Given the description of an element on the screen output the (x, y) to click on. 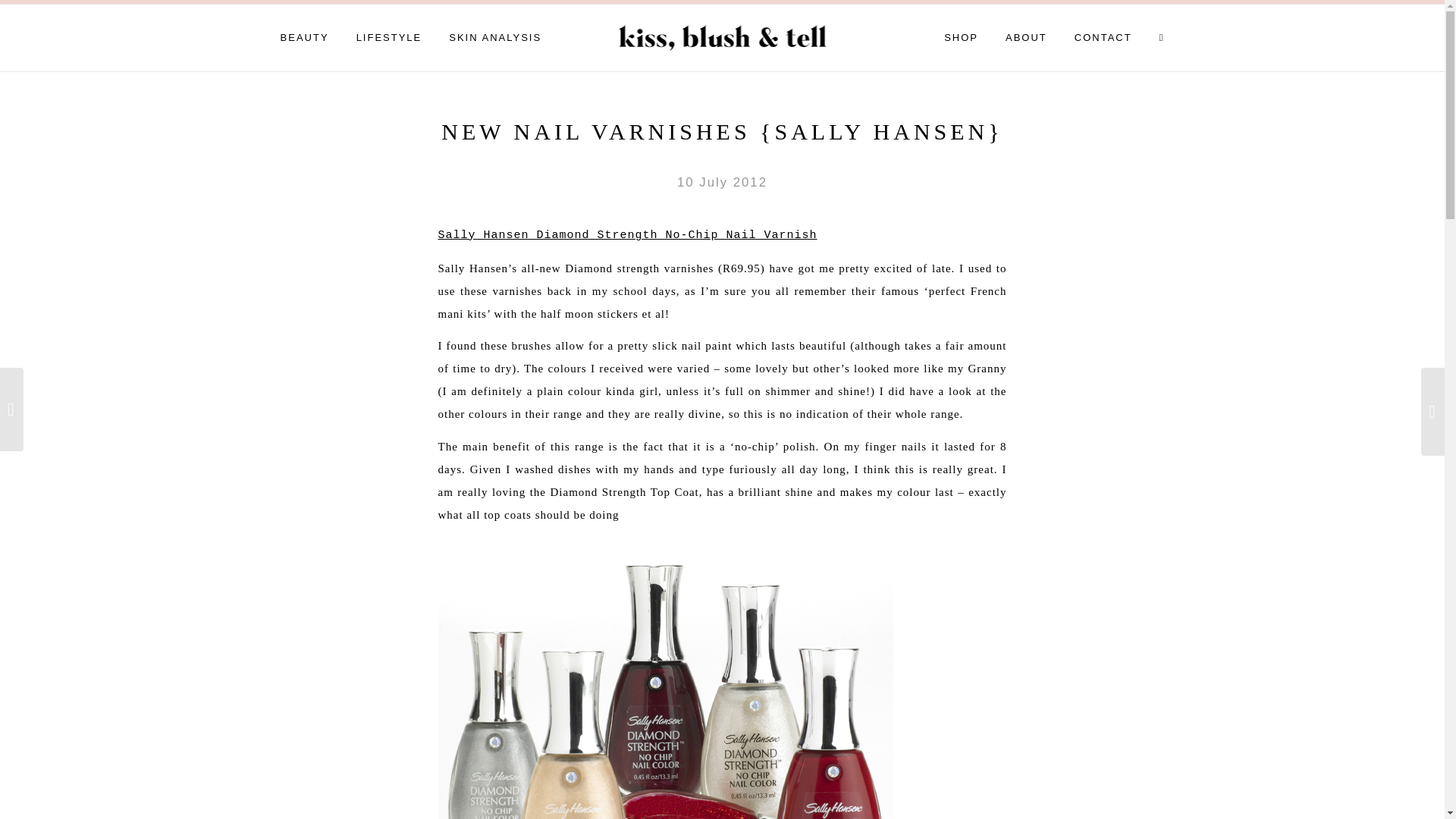
BEAUTY (304, 37)
ABOUT (1026, 37)
CONTACT (1102, 37)
LIFESTYLE (389, 37)
SKIN ANALYSIS (495, 37)
